Given the description of an element on the screen output the (x, y) to click on. 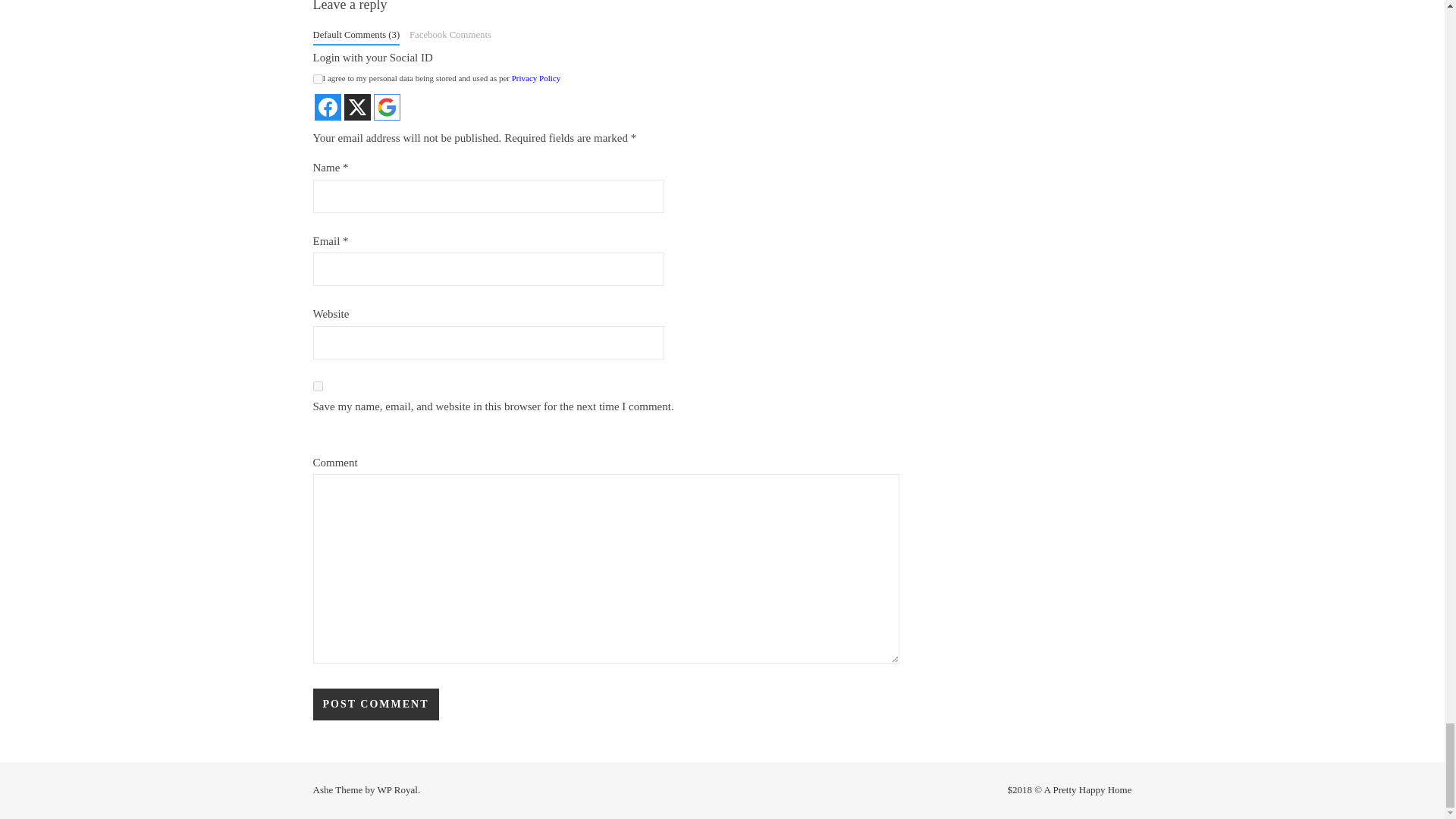
Login with Facebook (327, 107)
Login with Google (385, 107)
1 (317, 79)
Post Comment (375, 704)
yes (317, 386)
Login with X (357, 107)
